Given the description of an element on the screen output the (x, y) to click on. 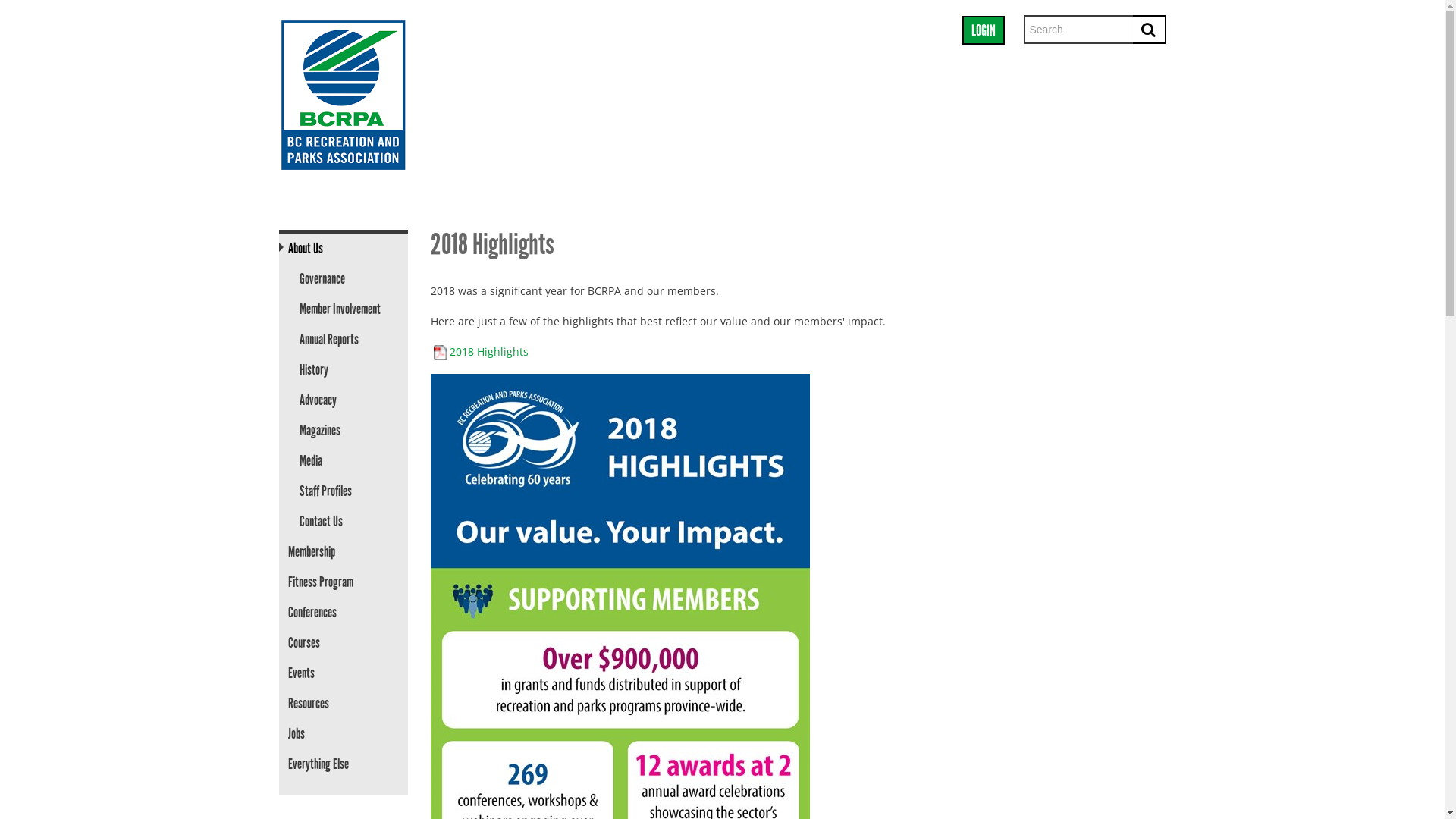
Fitness Program Element type: text (343, 582)
Conferences Element type: text (343, 612)
Jobs Element type: text (343, 733)
LOGIN Element type: text (982, 29)
Courses Element type: text (343, 642)
Governance Element type: text (347, 278)
History Element type: text (347, 369)
Contact Us Element type: text (347, 521)
Annual Reports Element type: text (347, 339)
Resources Element type: text (343, 703)
2018 Highlights Element type: text (487, 351)
Events Element type: text (343, 673)
Membership Element type: text (343, 551)
About Us Element type: text (336, 248)
Member Involvement Element type: text (347, 309)
Staff Profiles Element type: text (347, 491)
Everything Else Element type: text (343, 764)
Advocacy Element type: text (347, 400)
Magazines Element type: text (347, 430)
Media Element type: text (347, 460)
